Given the description of an element on the screen output the (x, y) to click on. 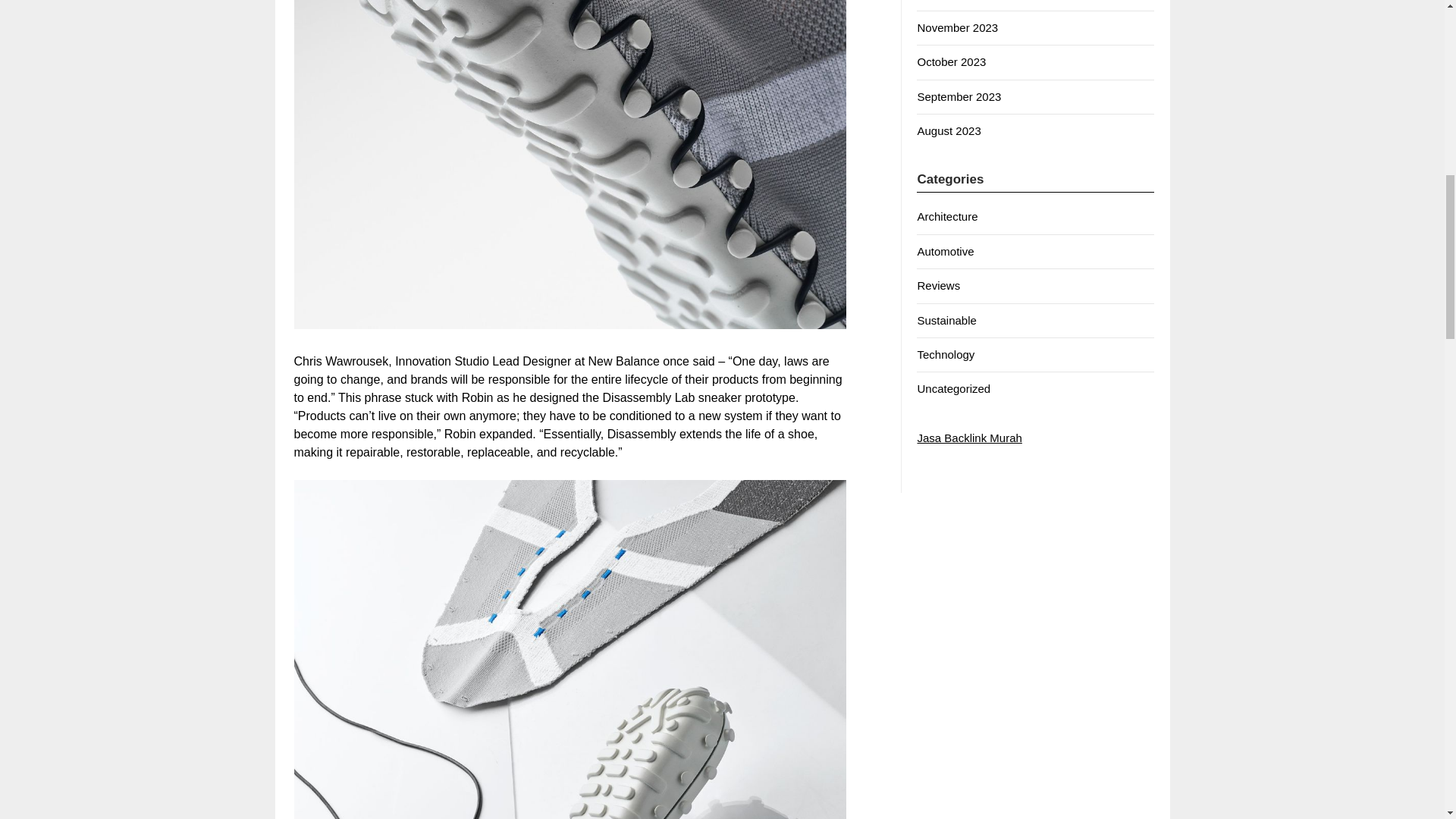
Jasa Backlink Murah (969, 437)
Automotive (945, 250)
August 2023 (948, 130)
October 2023 (951, 61)
Uncategorized (953, 388)
September 2023 (959, 96)
Architecture (946, 215)
Technology (945, 354)
Reviews (938, 285)
Sustainable (946, 319)
November 2023 (957, 27)
